Given the description of an element on the screen output the (x, y) to click on. 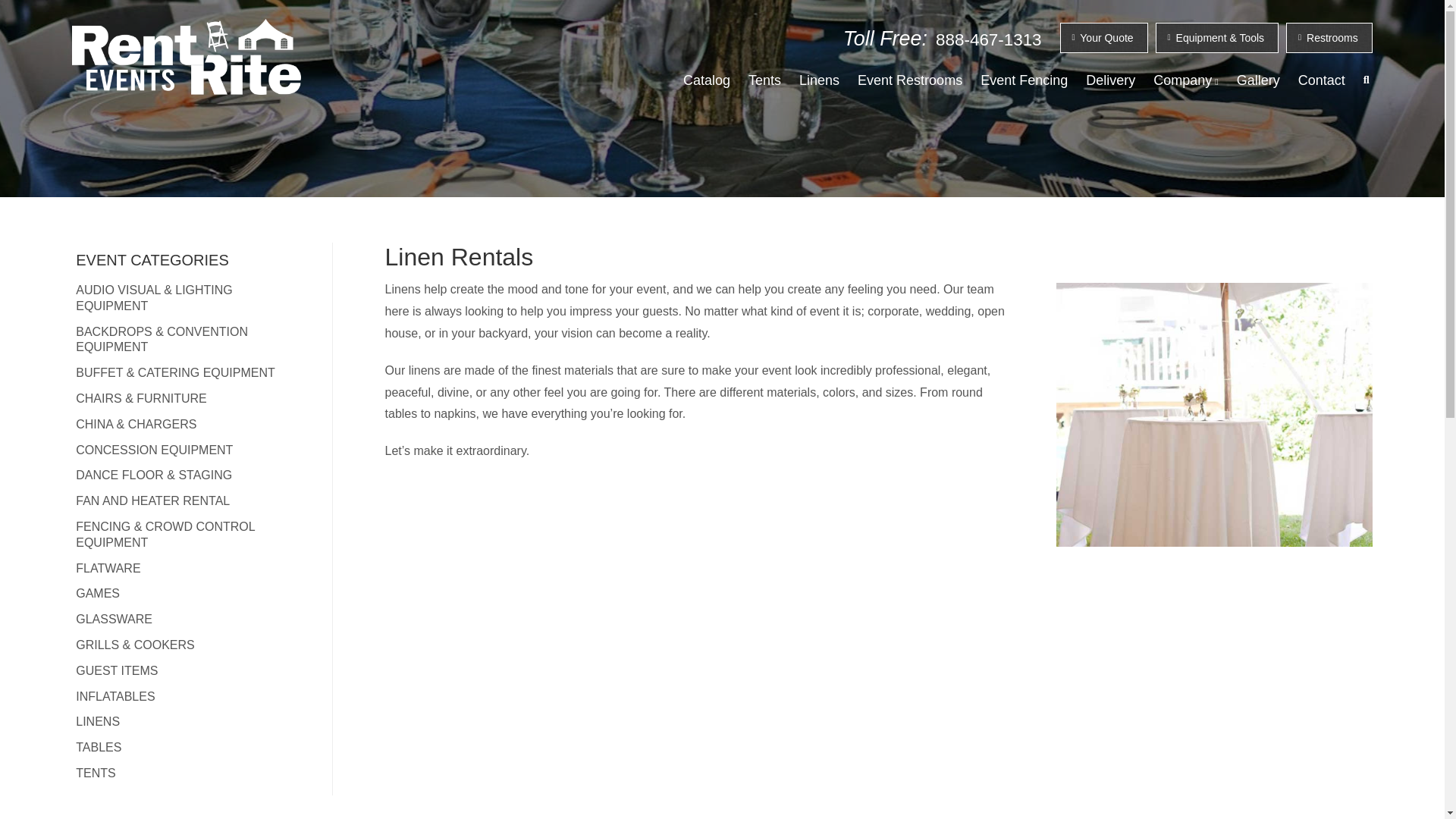
Visit our Portable Restrooms Website (1329, 37)
Event Restroom Rentals in Alma, Mt Pleasant, and Saginaw MI (909, 79)
Toll Free: 888-467-1313 (942, 38)
Company (1185, 79)
Toll Free: 888-467-1313 (942, 38)
Event Fencing (1023, 79)
Delivery (1110, 79)
Linens (819, 79)
Catalog (706, 79)
